Given the description of an element on the screen output the (x, y) to click on. 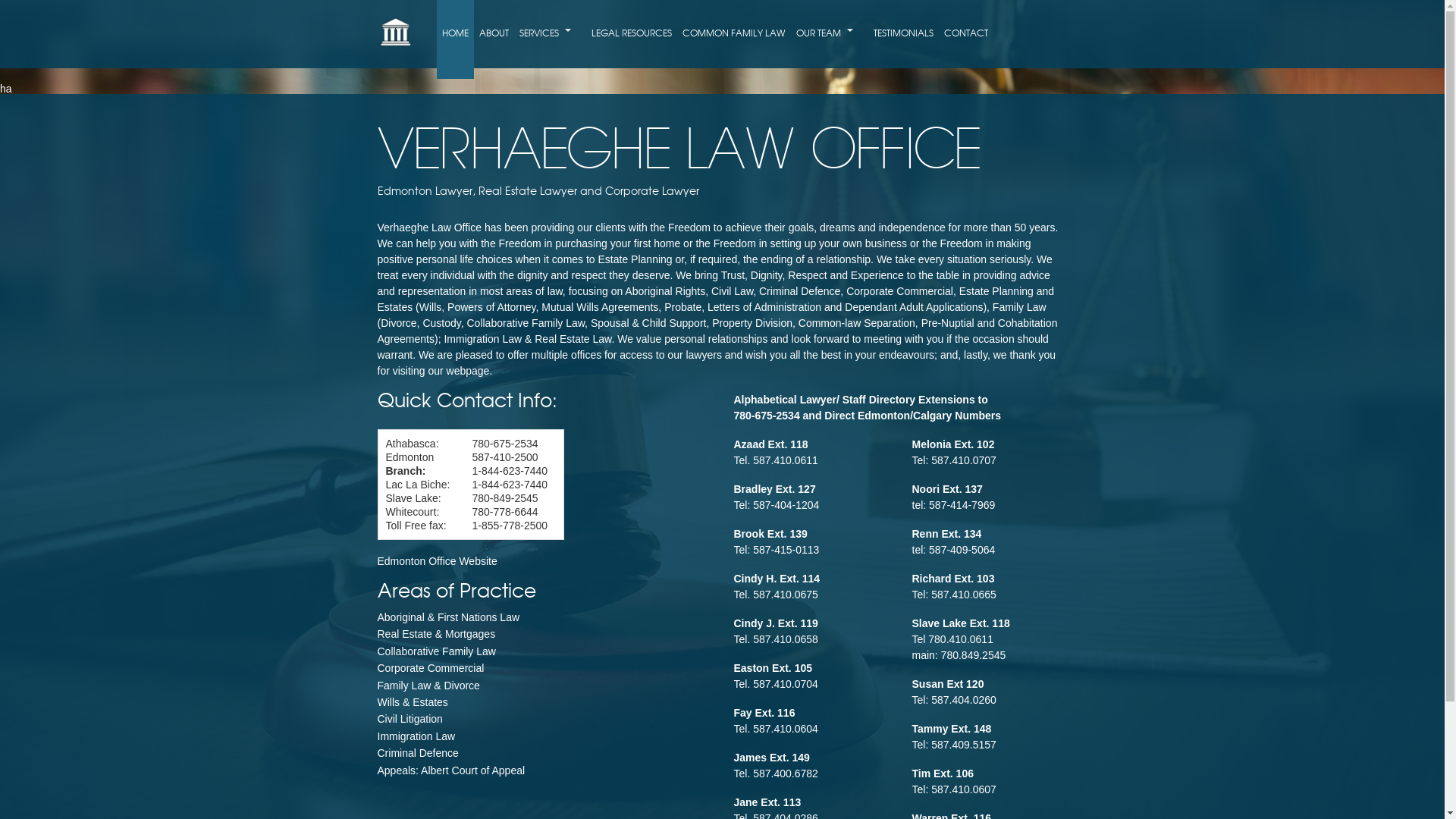
SERVICES Element type: text (550, 33)
ABOUT Element type: text (493, 33)
CONTACT Element type: text (965, 33)
LEGAL RESOURCES Element type: text (631, 33)
OUR TEAM Element type: text (829, 33)
COMMON FAMILY LAW Element type: text (733, 33)
TESTIMONIALS Element type: text (903, 33)
HOME Element type: text (454, 33)
Edmonton Office Website Element type: text (437, 561)
